Given the description of an element on the screen output the (x, y) to click on. 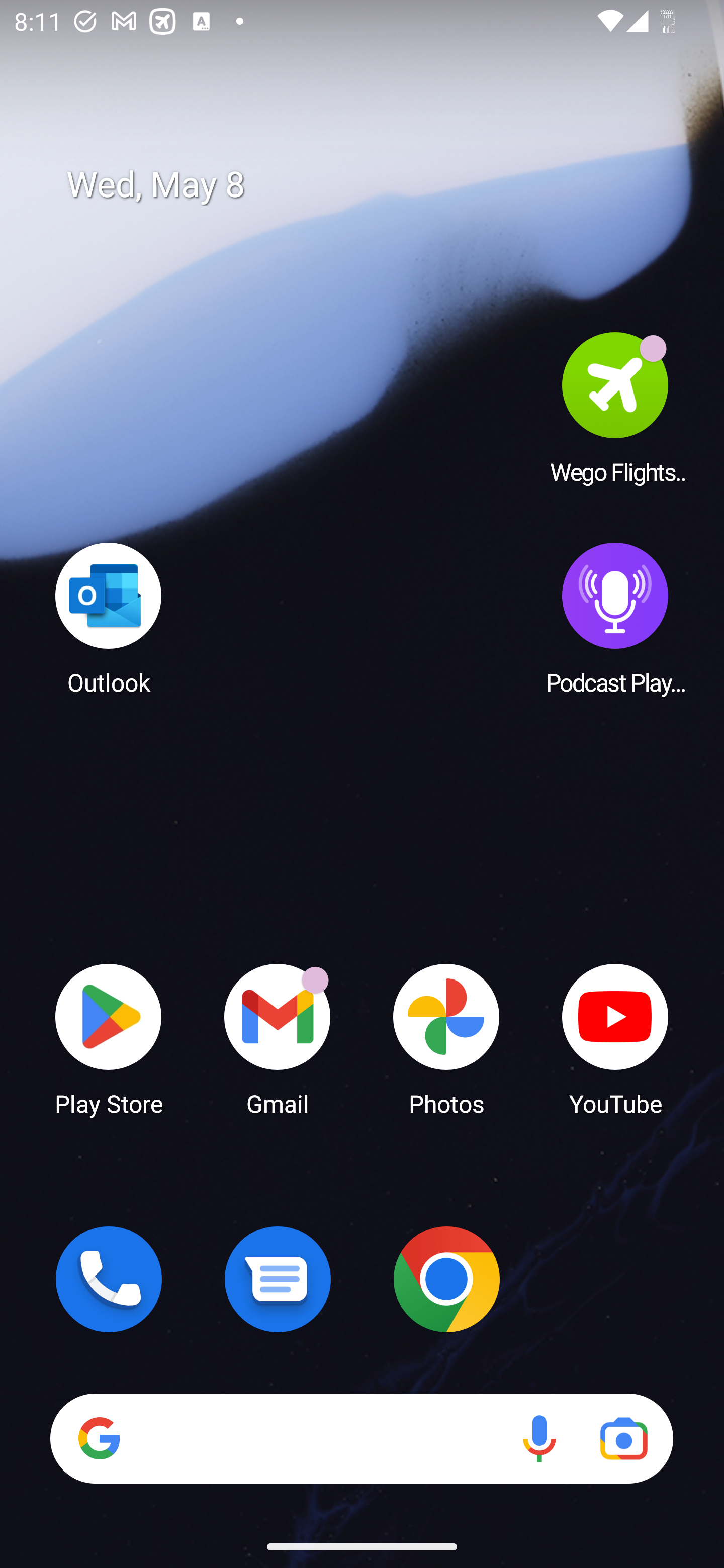
Wed, May 8 (375, 184)
Outlook (108, 617)
Podcast Player (615, 617)
Play Store (108, 1038)
Gmail Gmail has 17 notifications (277, 1038)
Photos (445, 1038)
YouTube (615, 1038)
Phone (108, 1279)
Messages (277, 1279)
Chrome (446, 1279)
Voice search (539, 1438)
Google Lens (623, 1438)
